Given the description of an element on the screen output the (x, y) to click on. 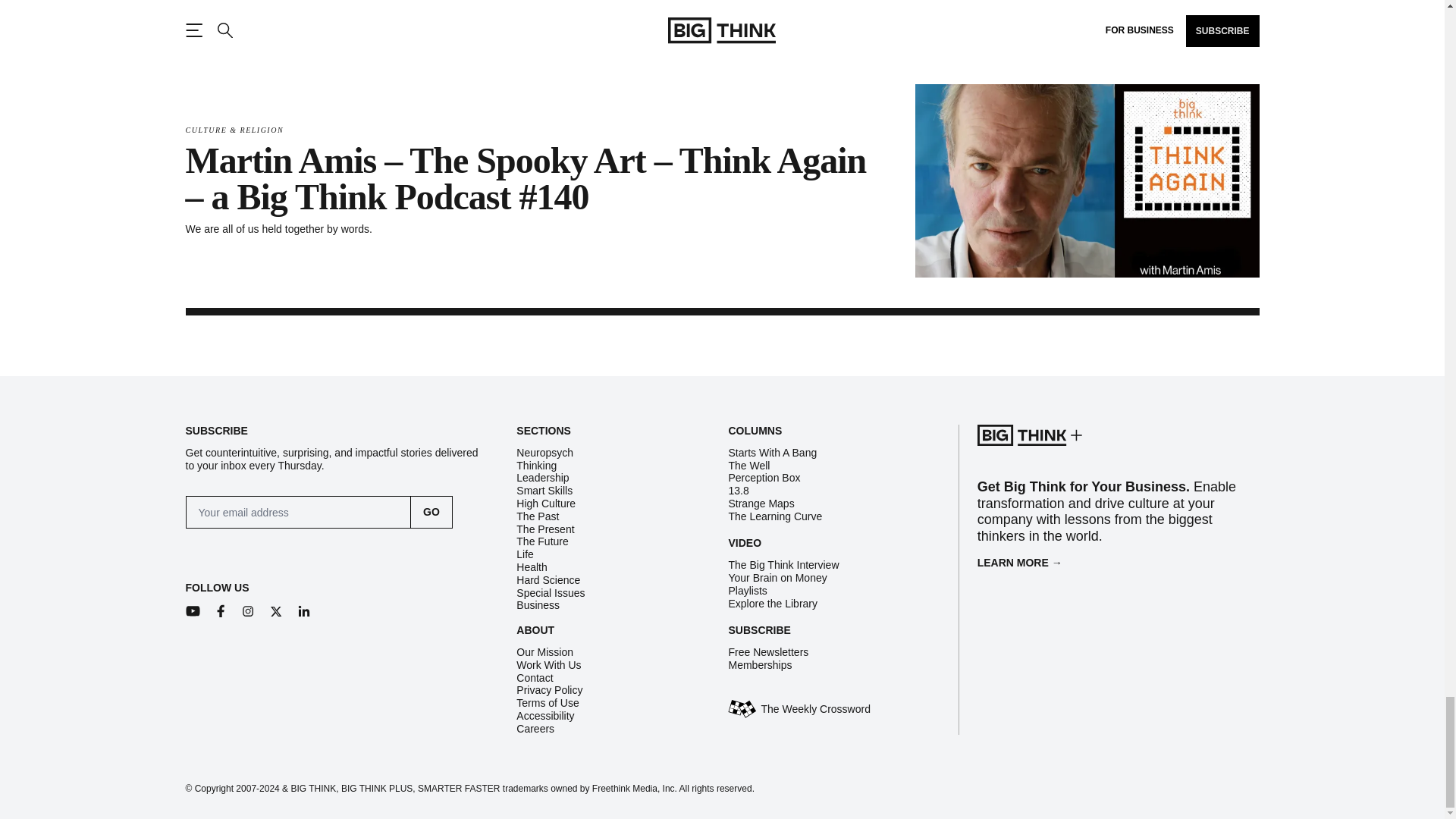
Go (431, 512)
